Given the description of an element on the screen output the (x, y) to click on. 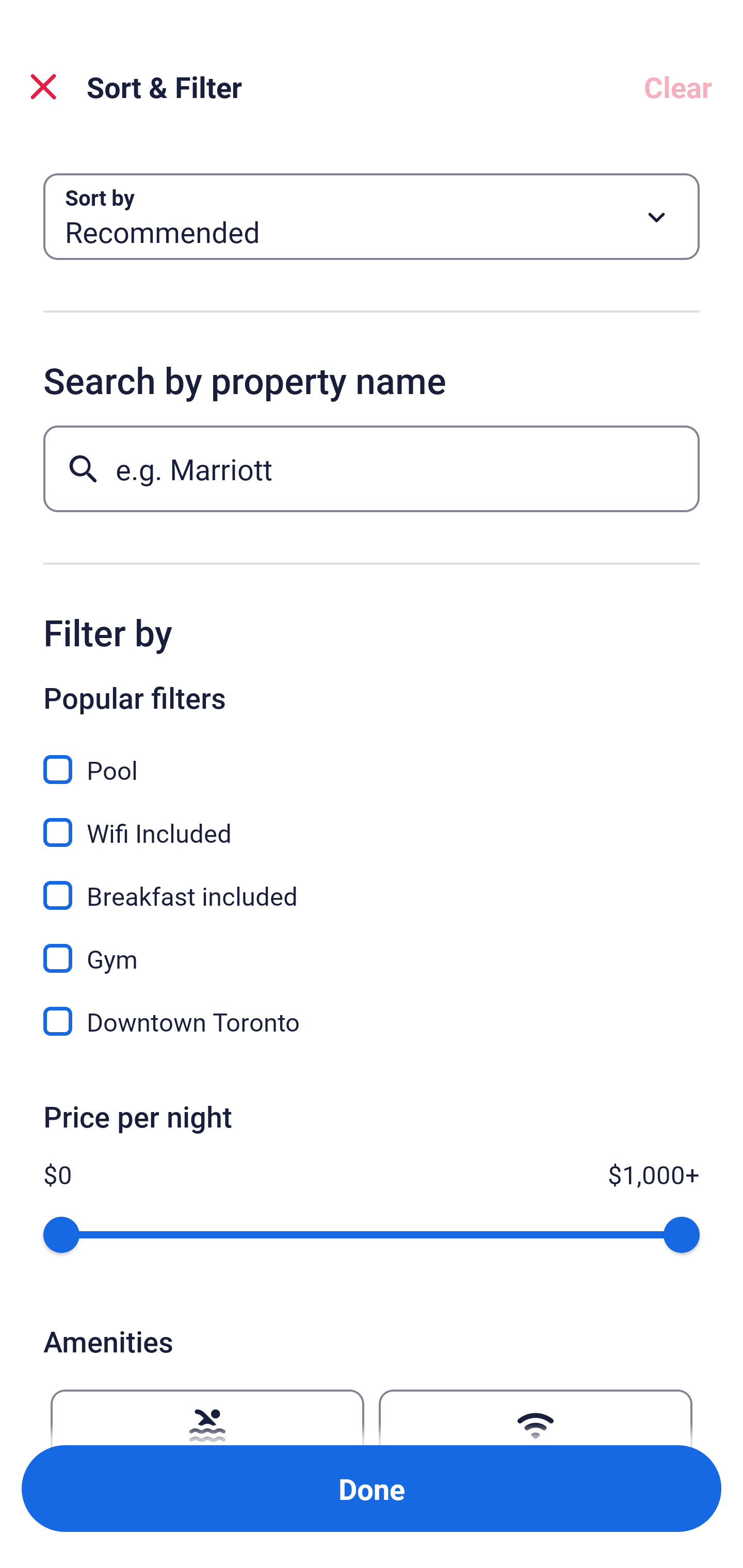
Close Sort and Filter (43, 86)
Clear (677, 86)
Sort by Button Recommended (371, 217)
e.g. Marriott Button (371, 468)
Pool, Pool (371, 757)
Wifi Included, Wifi Included (371, 821)
Breakfast included, Breakfast included (371, 883)
Gym, Gym (371, 946)
Downtown Toronto, Downtown Toronto (371, 1021)
Apply and close Sort and Filter Done (371, 1488)
